Given the description of an element on the screen output the (x, y) to click on. 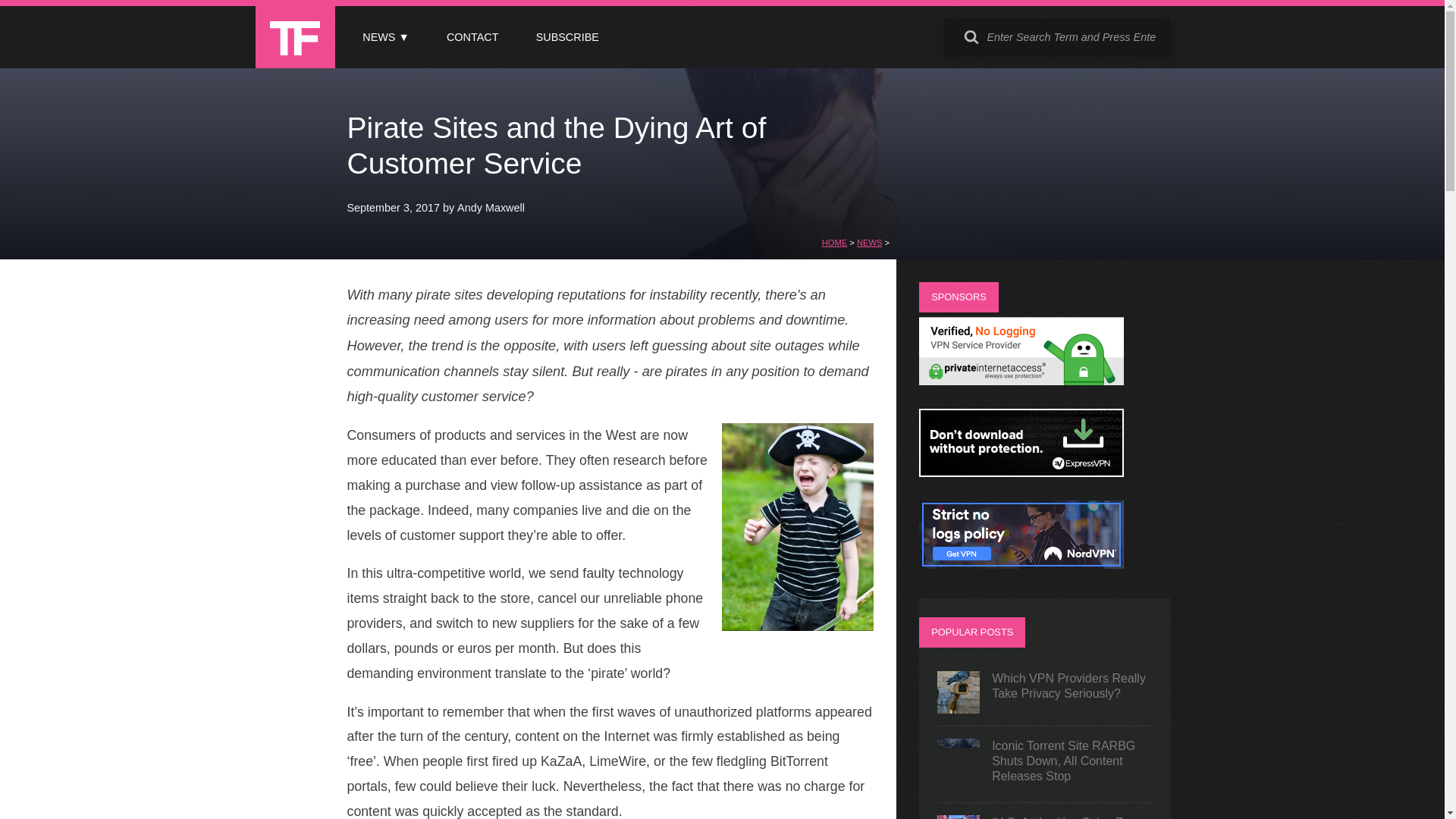
ExpressVPN (1021, 472)
CONTACT (471, 37)
Andy Maxwell (490, 207)
Which VPN Providers Really Take Privacy Seriously? (1045, 691)
NEWS (869, 242)
Go to TorrentFreak. (834, 242)
HOME (834, 242)
SUBSCRIBE (566, 37)
Go to the News category archives. (869, 242)
